Given the description of an element on the screen output the (x, y) to click on. 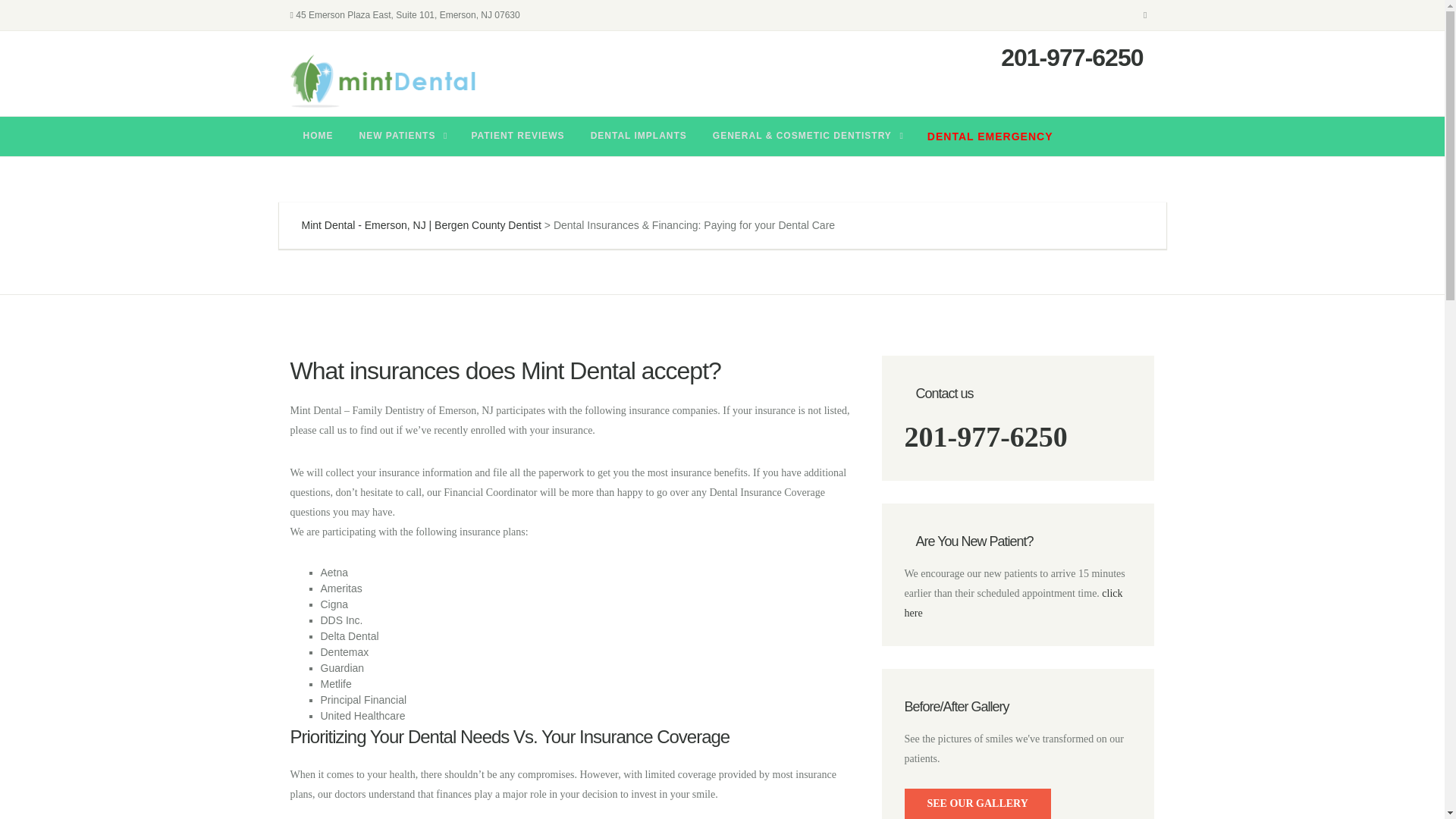
DENTAL EMERGENCY (989, 136)
SEE OUR GALLERY (976, 803)
PATIENT REVIEWS (517, 135)
201-977-6250 (1071, 57)
click here (1013, 603)
201-977-6250 (985, 436)
NEW PATIENTS (402, 135)
HOME (317, 135)
DENTAL IMPLANTS (639, 135)
